Given the description of an element on the screen output the (x, y) to click on. 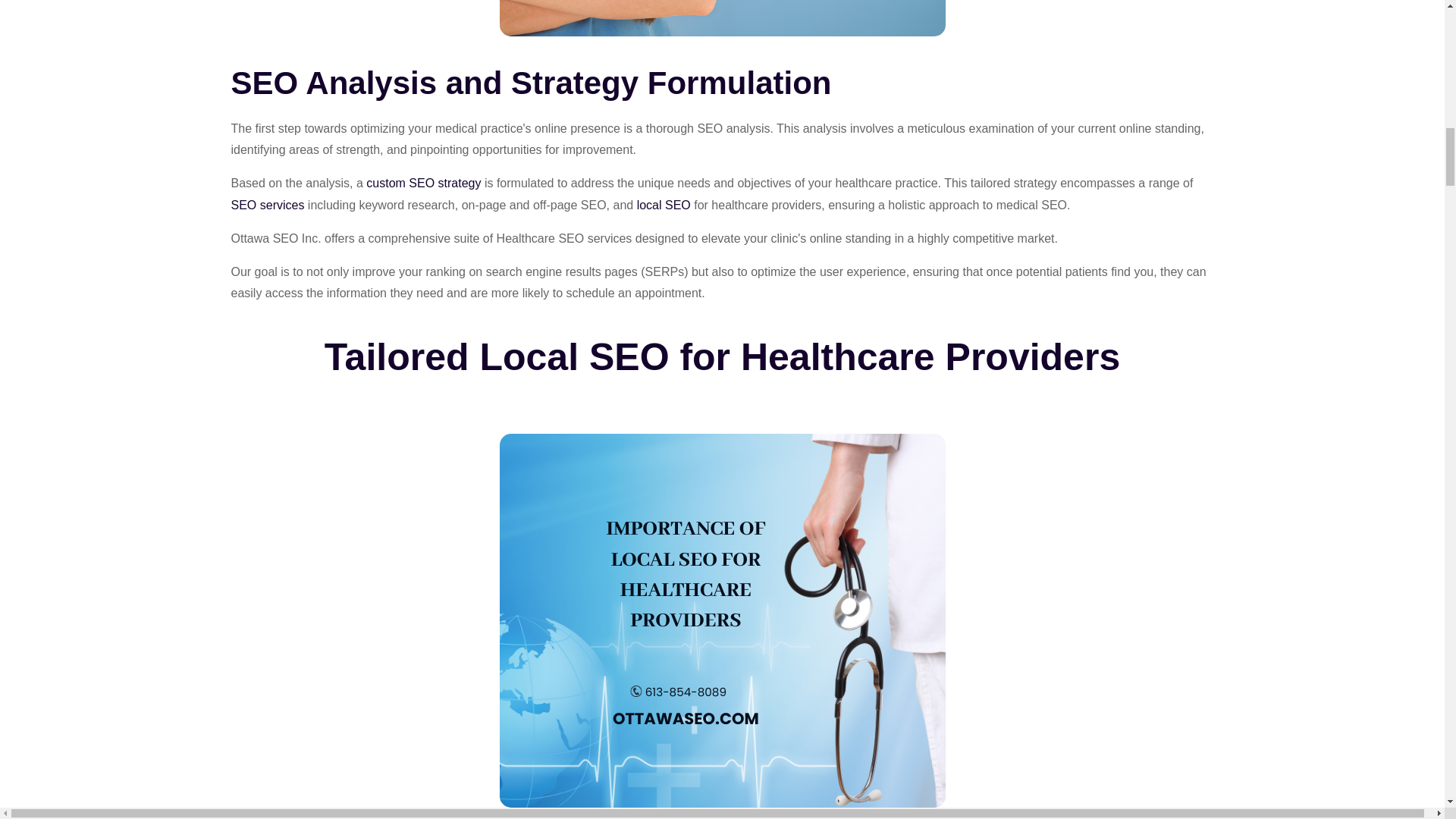
local SEO (663, 205)
custom SEO strategy (423, 183)
SEO services (267, 205)
